Given the description of an element on the screen output the (x, y) to click on. 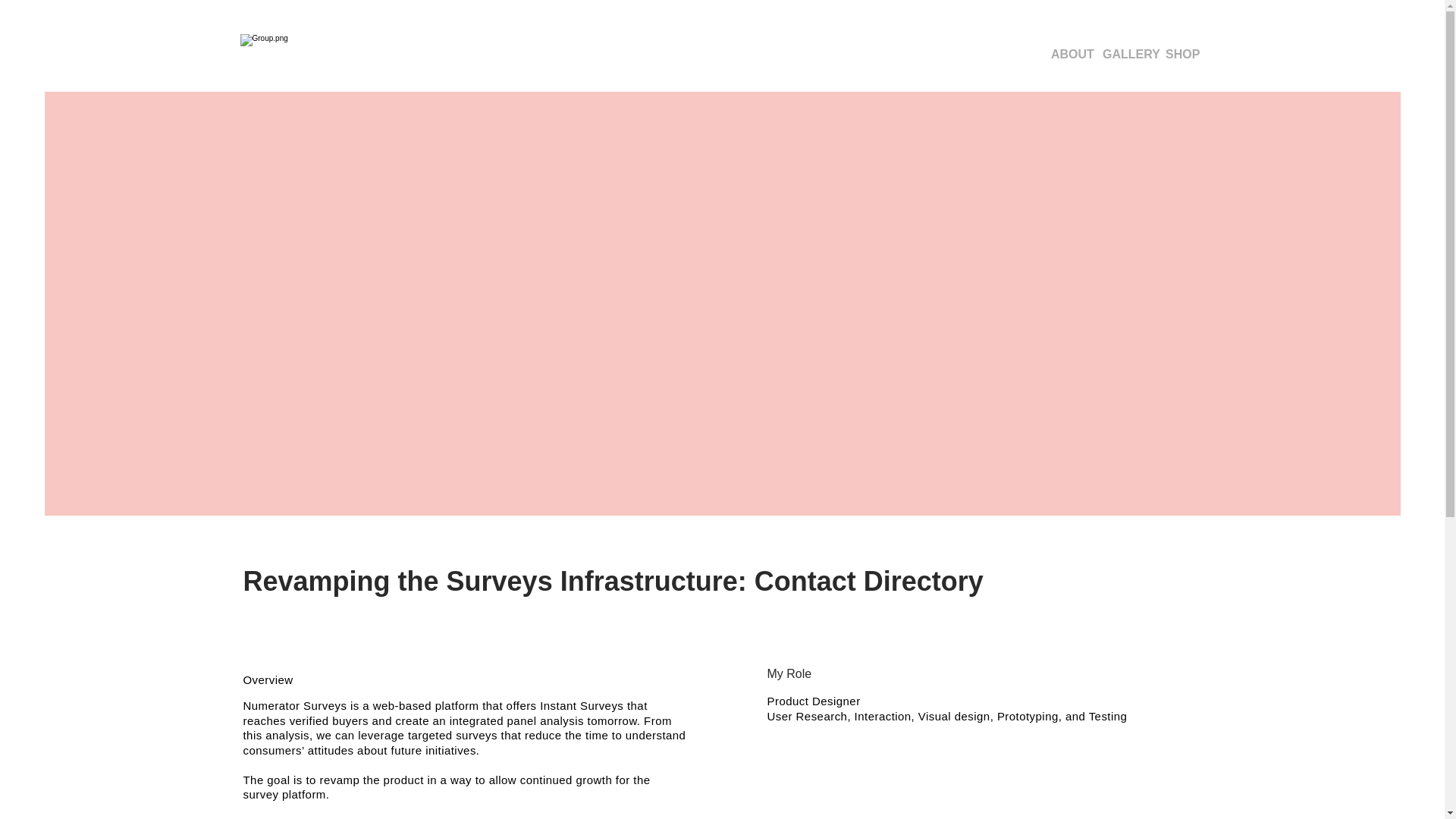
GALLERY (1125, 54)
ABOUT (1068, 54)
SHOP (1179, 54)
